Given the description of an element on the screen output the (x, y) to click on. 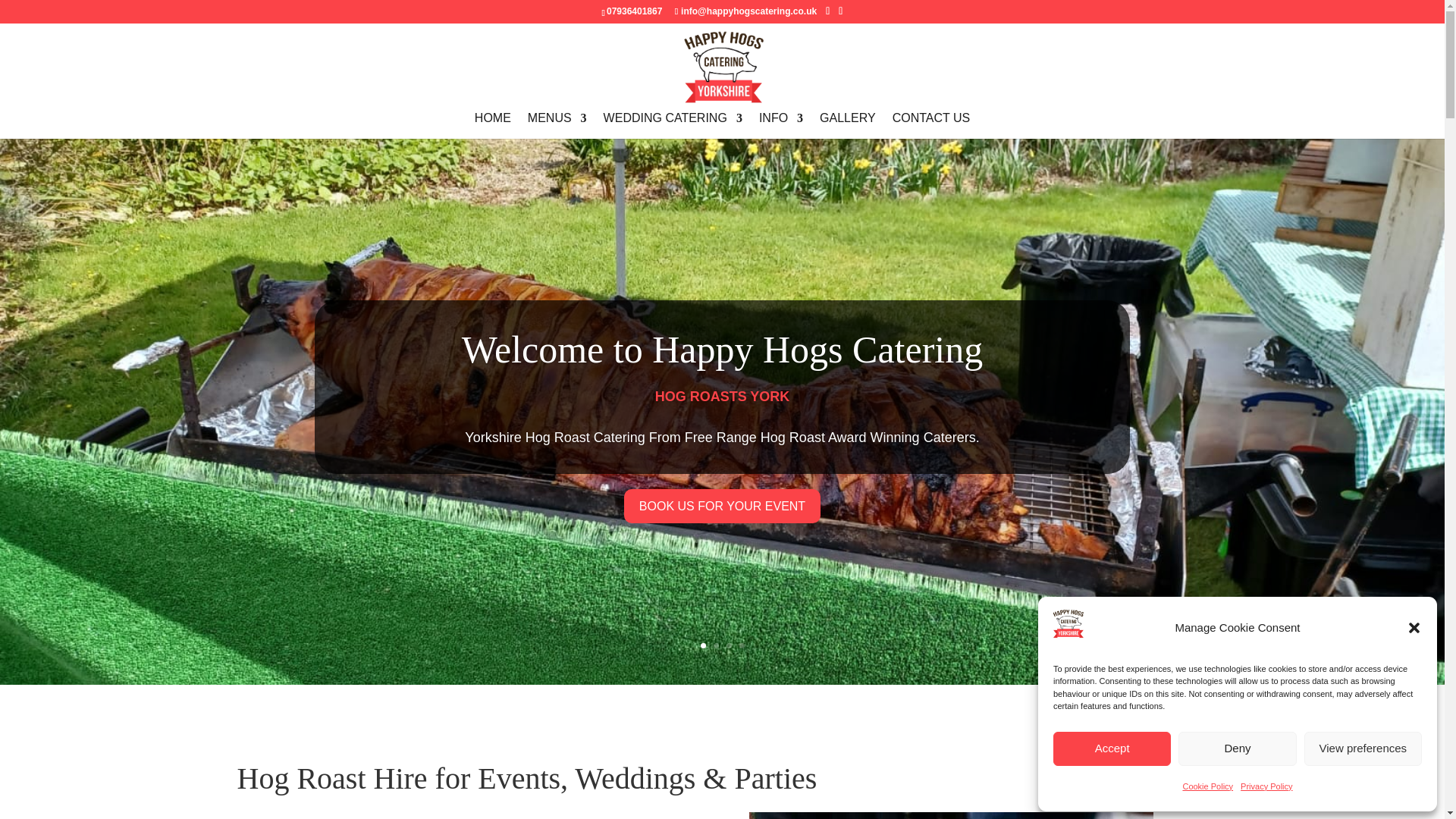
Accept (1111, 748)
Cookie Policy (1207, 786)
WEDDING CATERING (673, 125)
Catering Quote (931, 125)
View preferences (1363, 748)
CONTACT US (931, 125)
INFO (780, 125)
Deny (1236, 748)
HOME (492, 125)
GALLERY (847, 125)
MENUS (556, 125)
Privacy Policy (1266, 786)
